Given the description of an element on the screen output the (x, y) to click on. 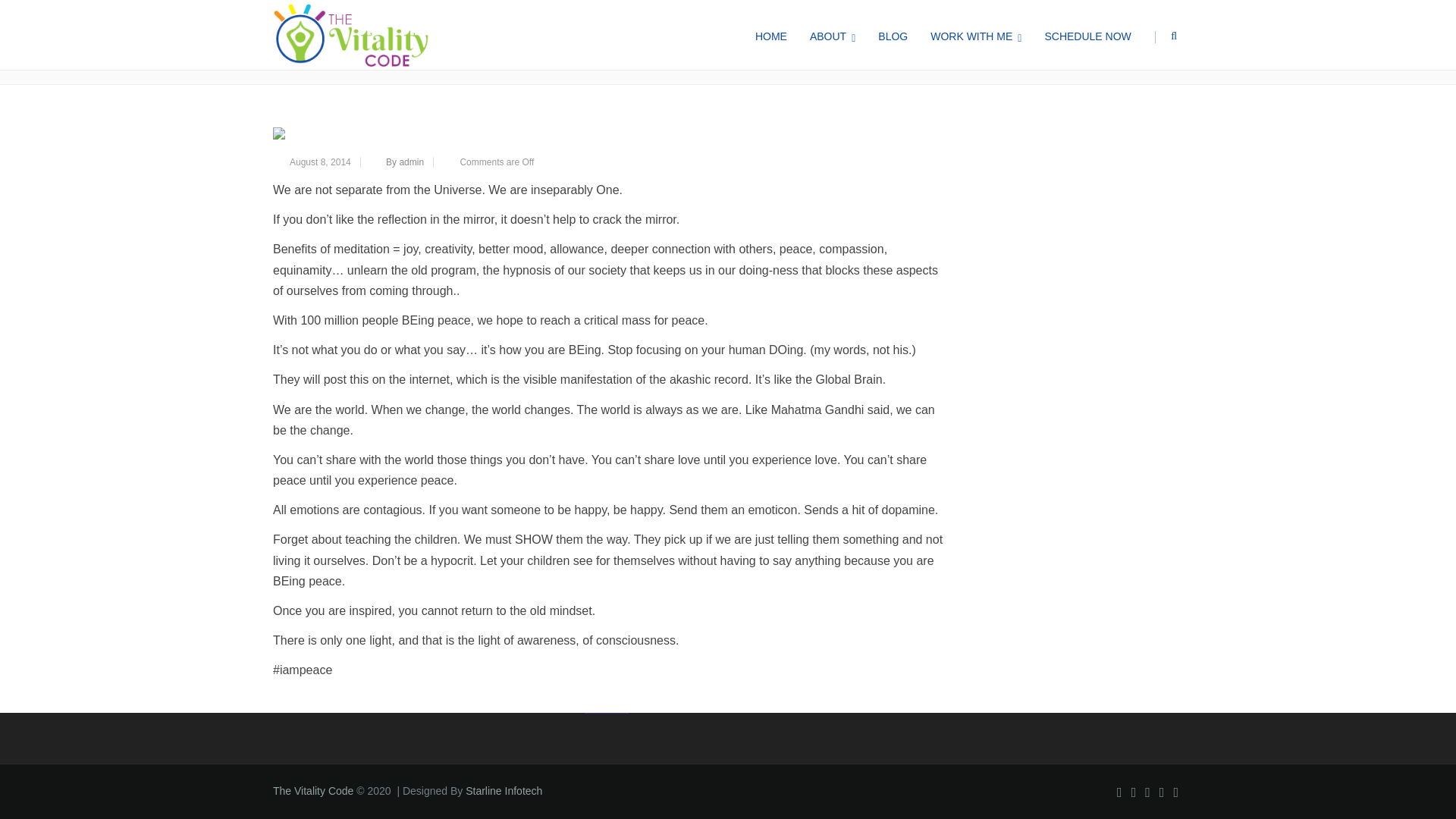
Start with a Free 30-Minute Consultation (368, 652)
ABOUT (831, 34)
SCHEDULE NOW (1086, 34)
Home (879, 41)
Gems of Wisdom from Deepak Chopra's Global Meditation (611, 133)
WORK WITH ME (975, 34)
Get Personal 1:1 Coaching (336, 631)
Blog (917, 41)
By admin (404, 162)
